Given the description of an element on the screen output the (x, y) to click on. 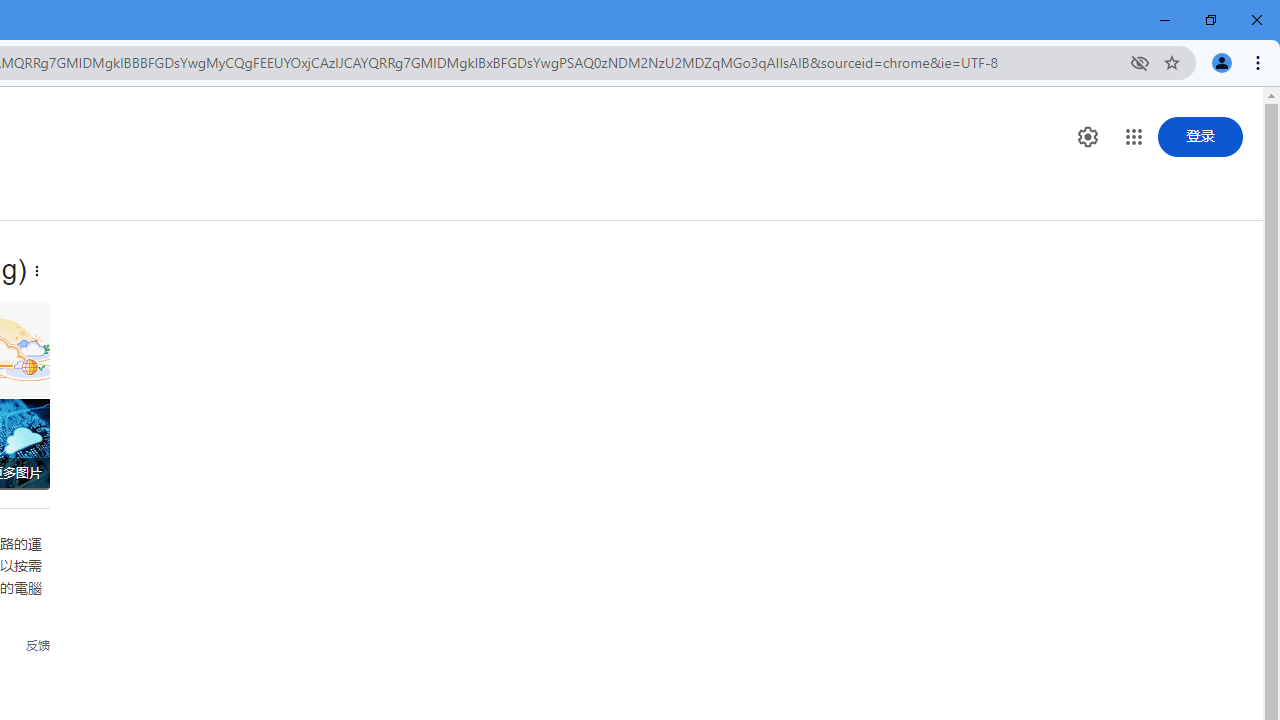
Third-party cookies blocked (1139, 62)
